Given the description of an element on the screen output the (x, y) to click on. 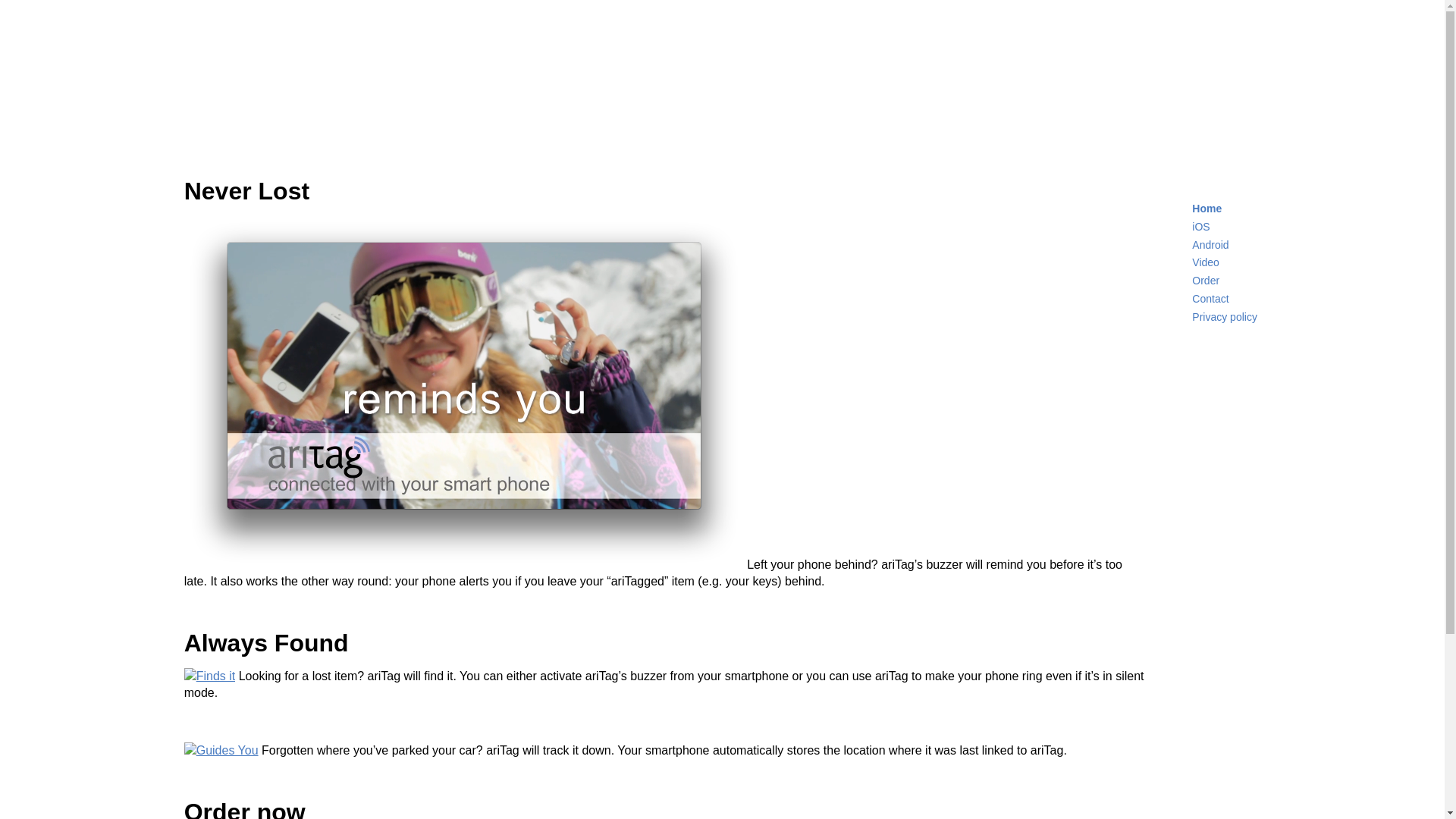
Android Element type: text (1210, 244)
Privacy policy Element type: text (1224, 316)
Order Element type: text (1205, 280)
Contact Element type: text (1210, 298)
Video Element type: text (1205, 262)
iOS Element type: text (1200, 226)
Home Element type: text (1206, 208)
